Given the description of an element on the screen output the (x, y) to click on. 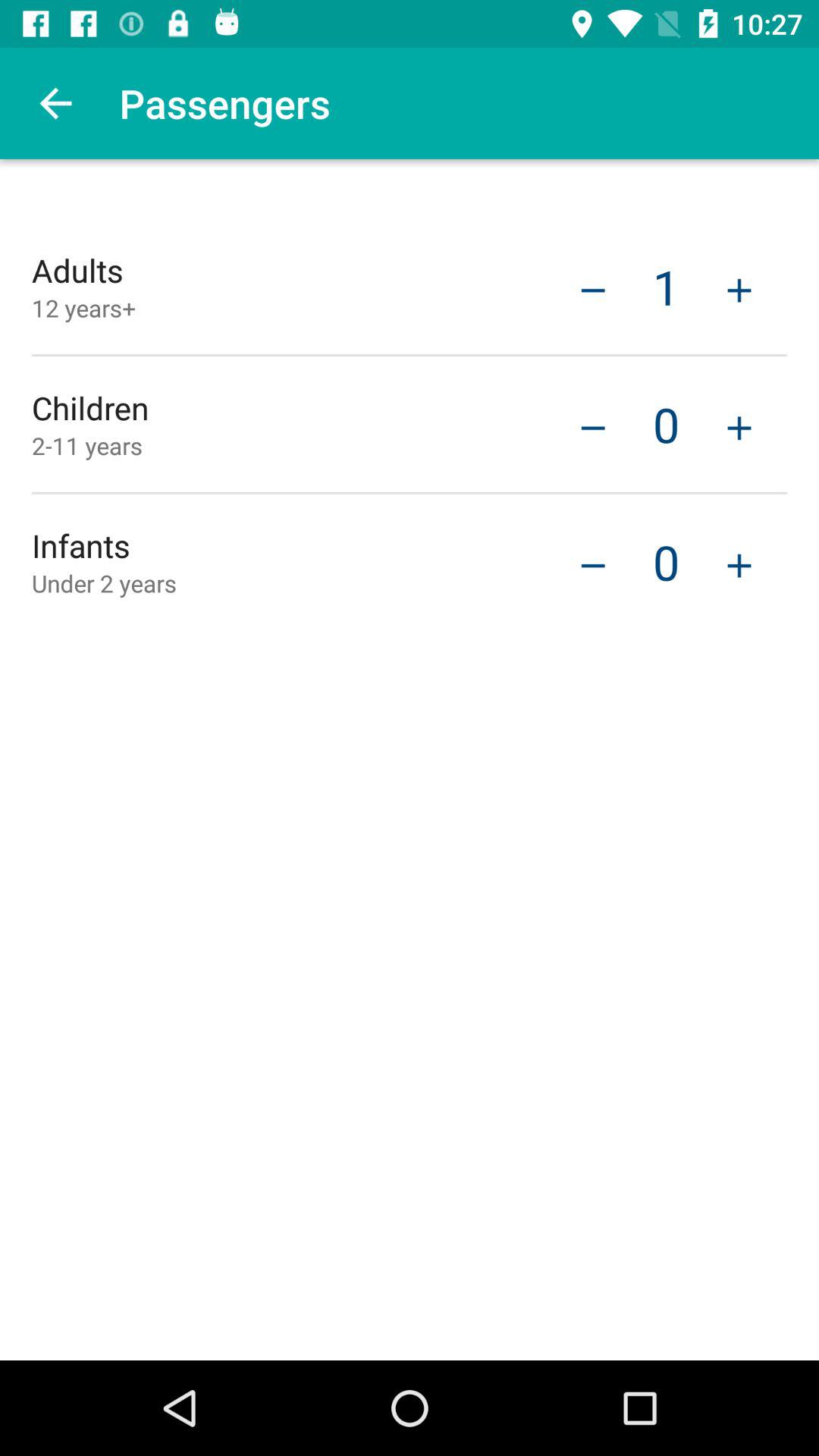
add an infant (739, 563)
